Given the description of an element on the screen output the (x, y) to click on. 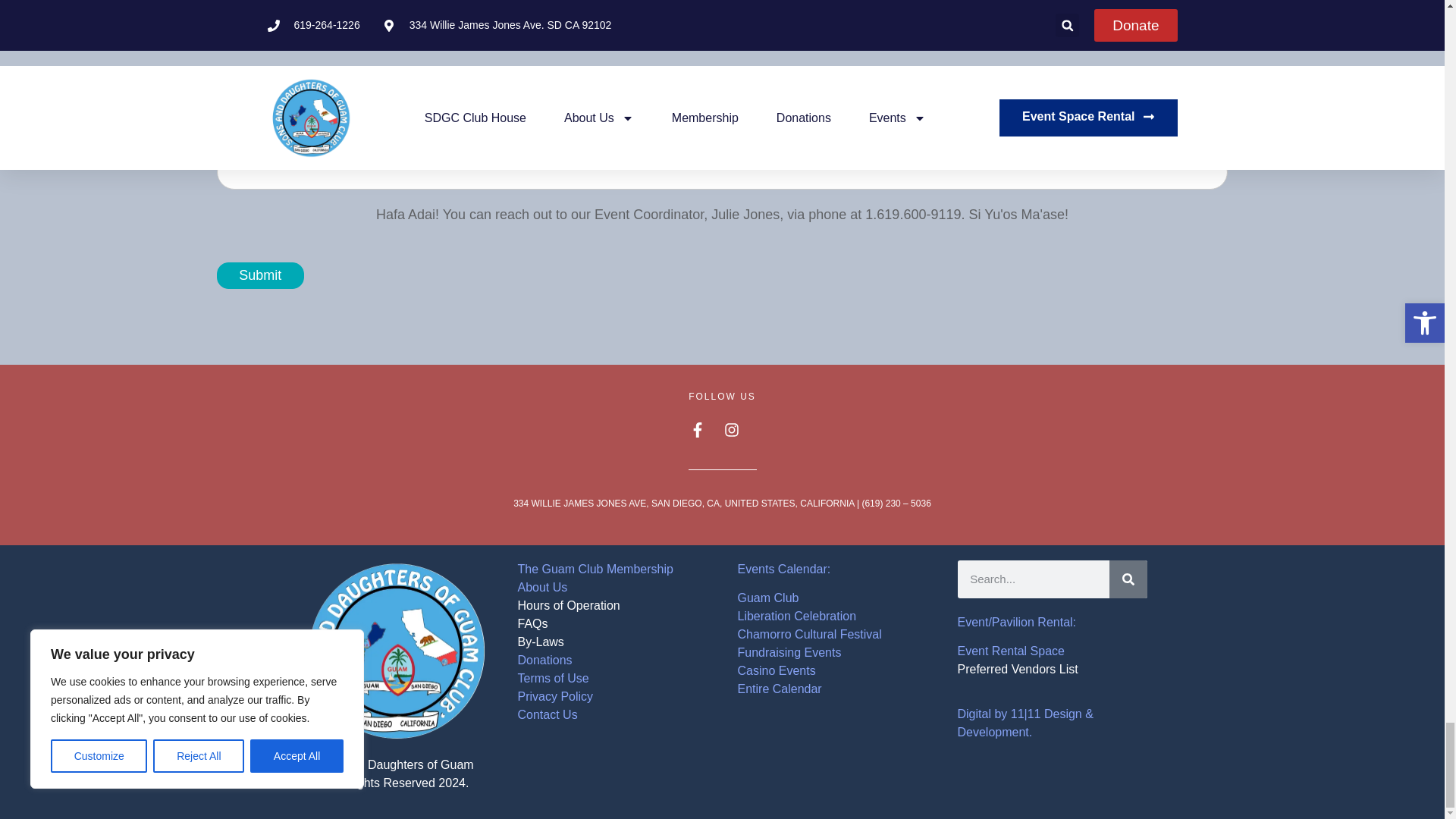
Catering (288, 110)
Event Planners (695, 110)
Staffing (223, 110)
DJ (592, 110)
Bartending (359, 110)
Florists (632, 110)
Security (442, 110)
Live Music (510, 110)
